Given the description of an element on the screen output the (x, y) to click on. 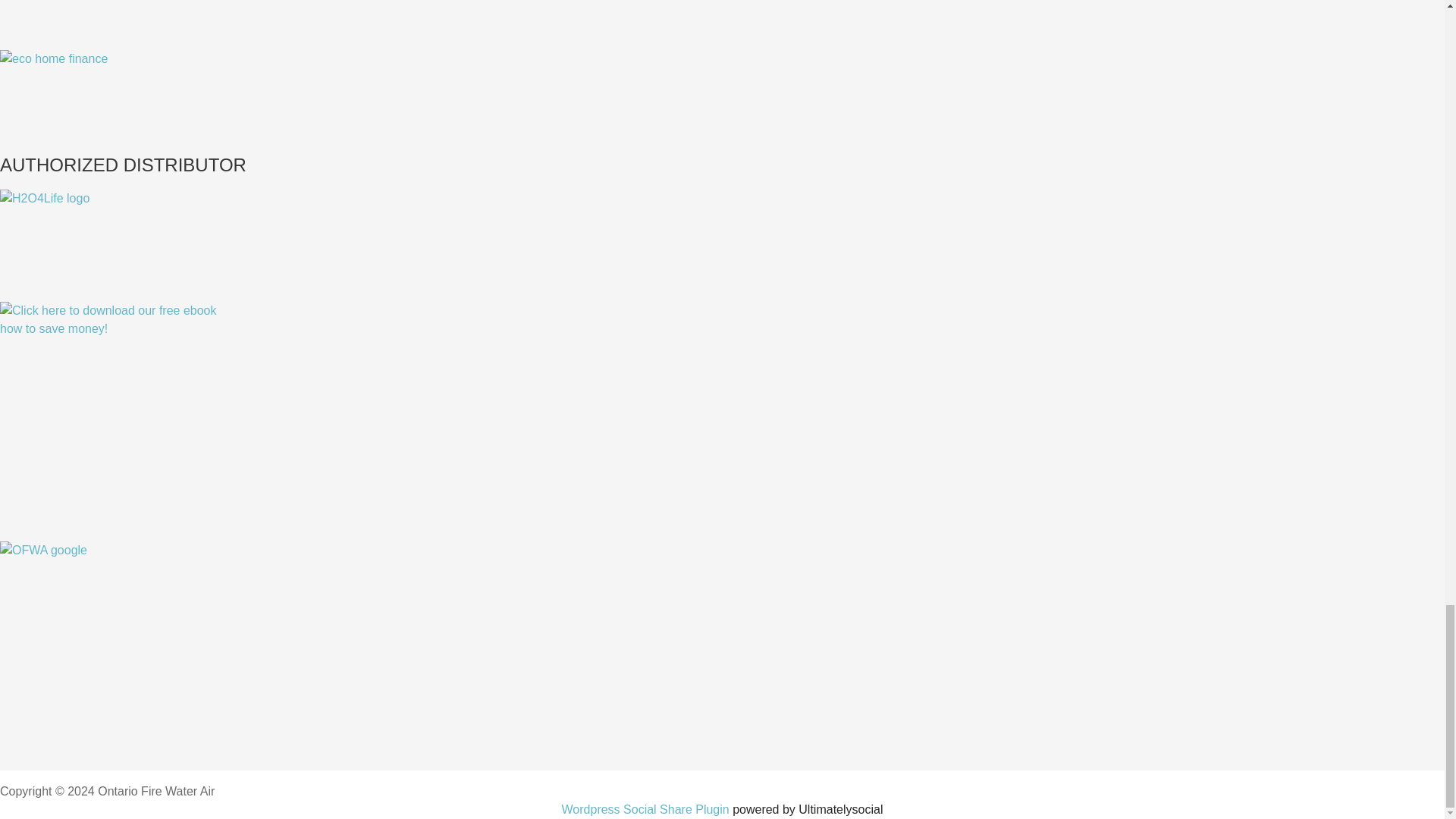
Wordpress Social Share Plugin (647, 809)
